Given the description of an element on the screen output the (x, y) to click on. 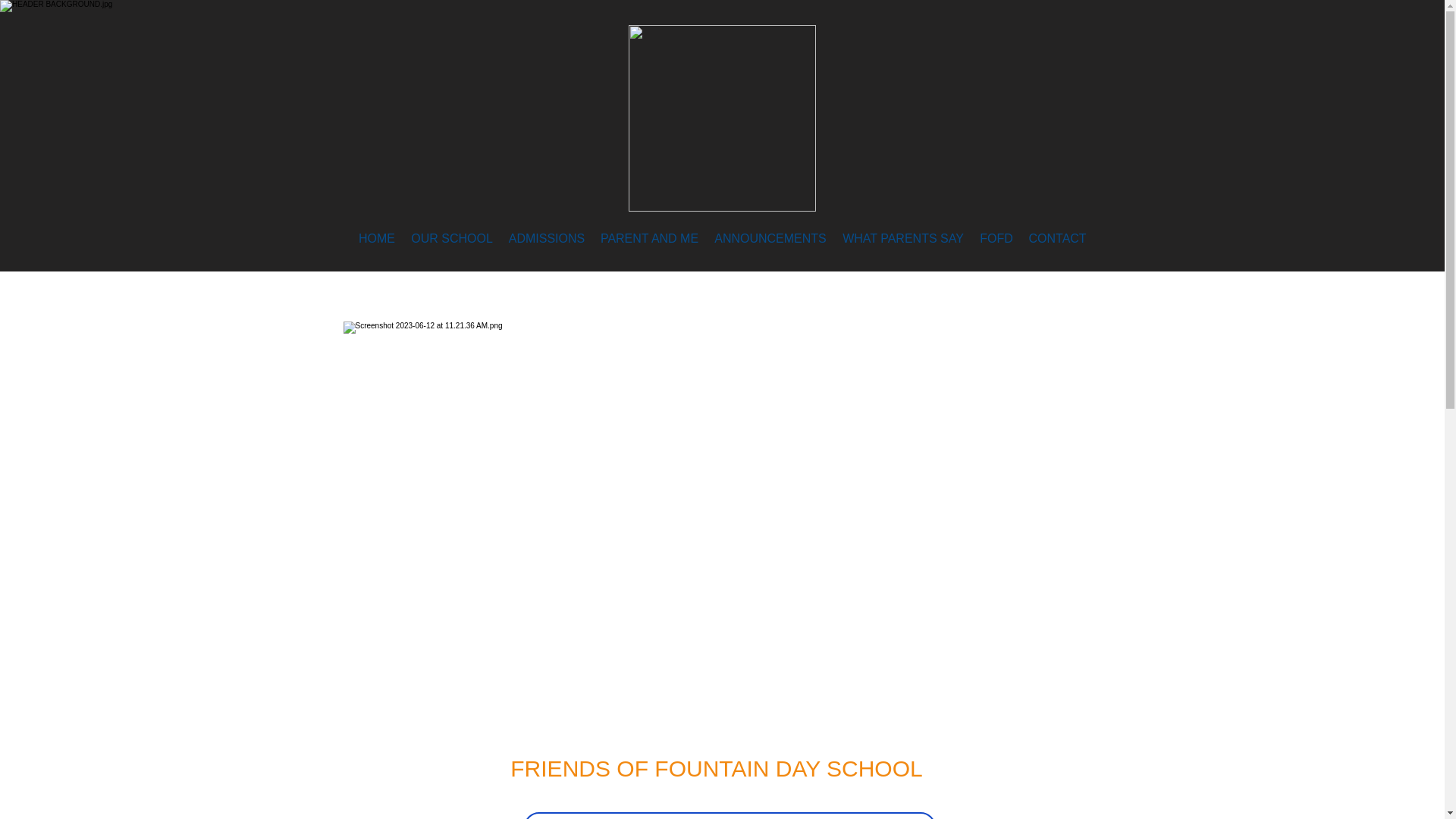
PARENT AND ME (649, 238)
CONTACT (1056, 238)
HOME (376, 238)
CLICK HERE TO GO TO OUR PAGE (728, 815)
FOFD (997, 238)
WHAT PARENTS SAY (902, 238)
ANNOUNCEMENTS (770, 238)
